Given the description of an element on the screen output the (x, y) to click on. 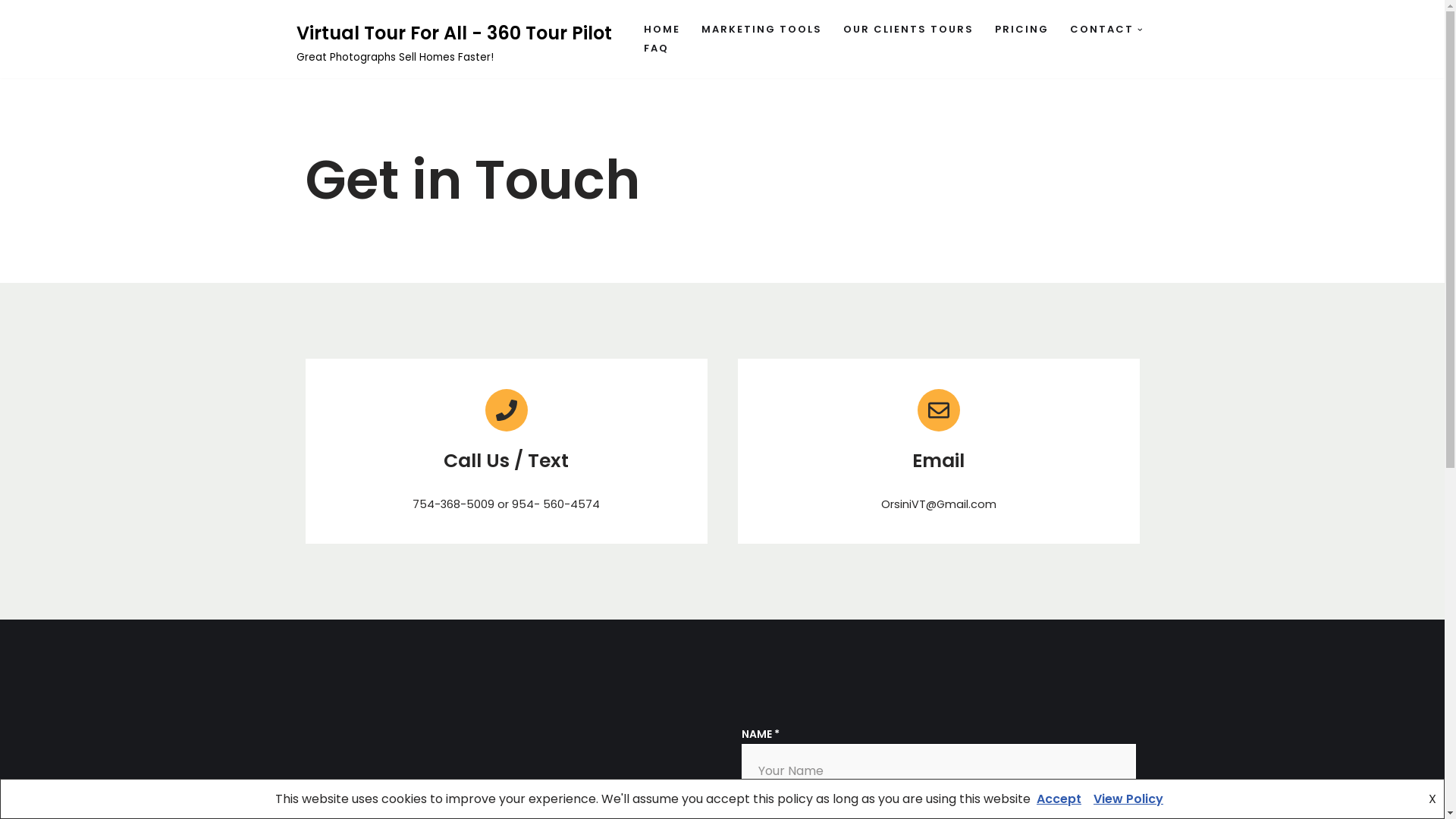
MARKETING TOOLS Element type: text (760, 29)
View Policy Element type: text (1128, 798)
HOME Element type: text (661, 29)
OUR CLIENTS TOURS Element type: text (908, 29)
Accept Element type: text (1058, 798)
PRICING Element type: text (1021, 29)
CONTACT Element type: text (1100, 29)
FAQ Element type: text (655, 48)
Skip to content Element type: text (11, 31)
